Given the description of an element on the screen output the (x, y) to click on. 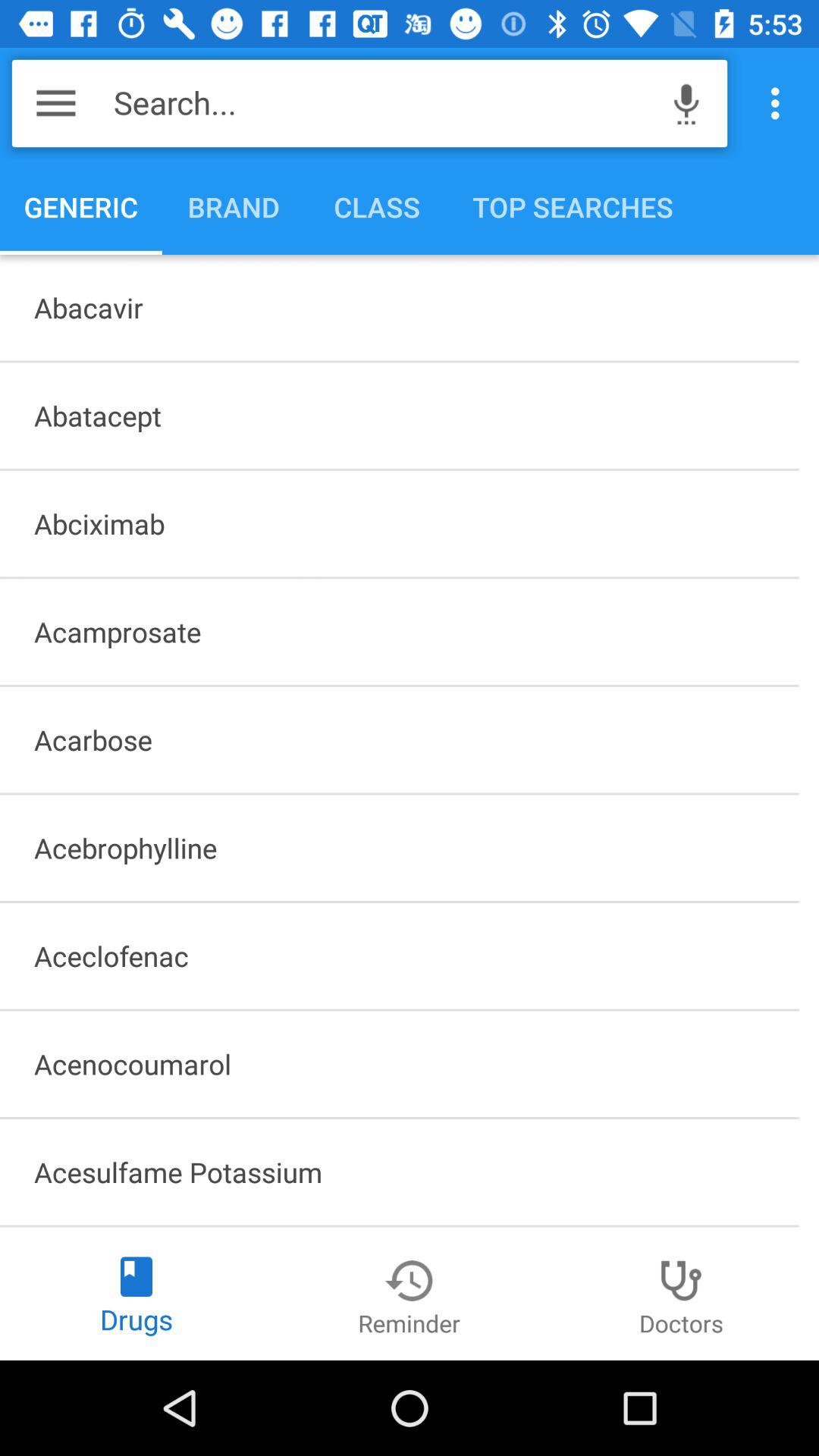
open acarbose item (399, 739)
